Given the description of an element on the screen output the (x, y) to click on. 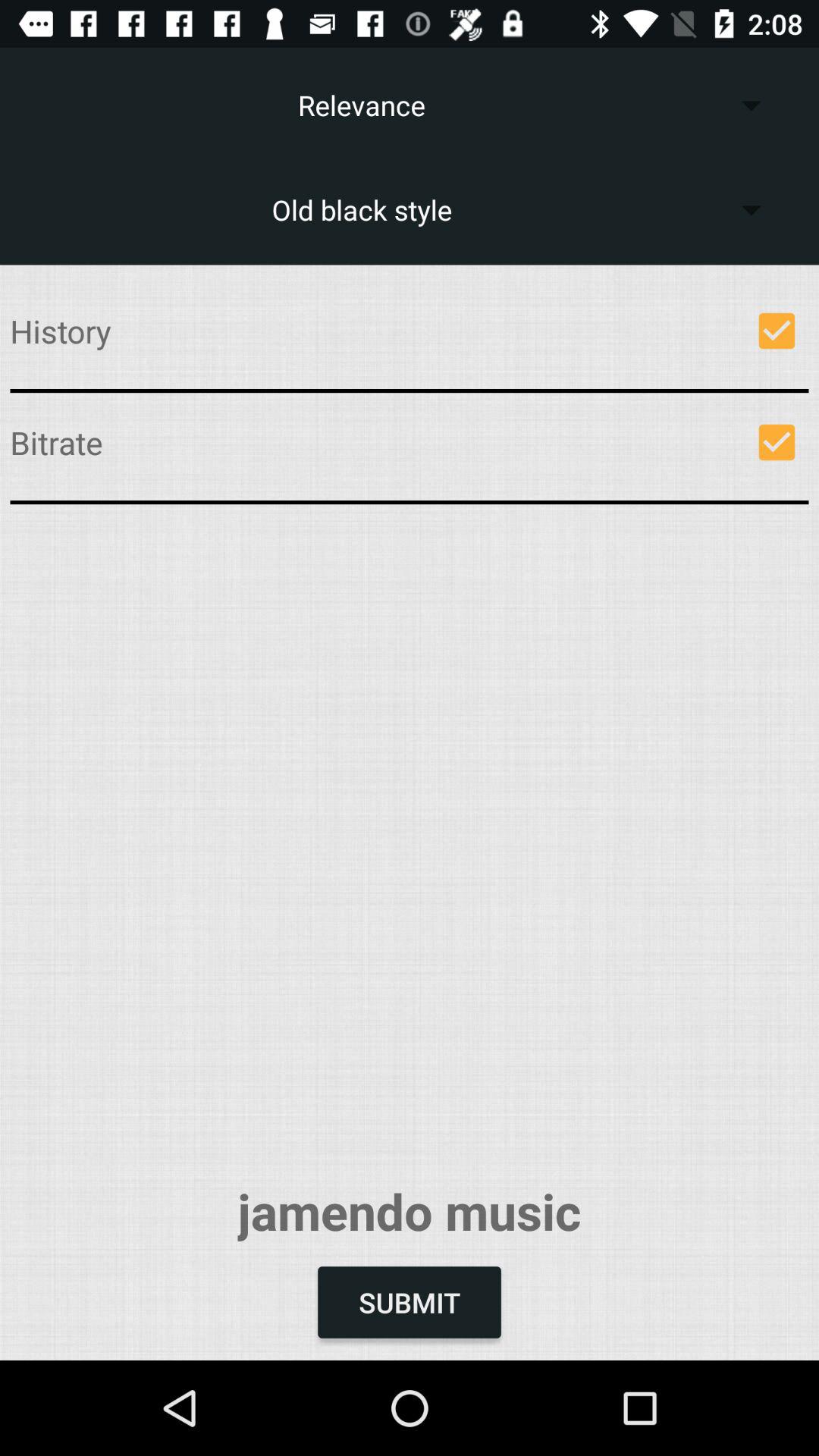
toggle auto-play on (776, 442)
